Given the description of an element on the screen output the (x, y) to click on. 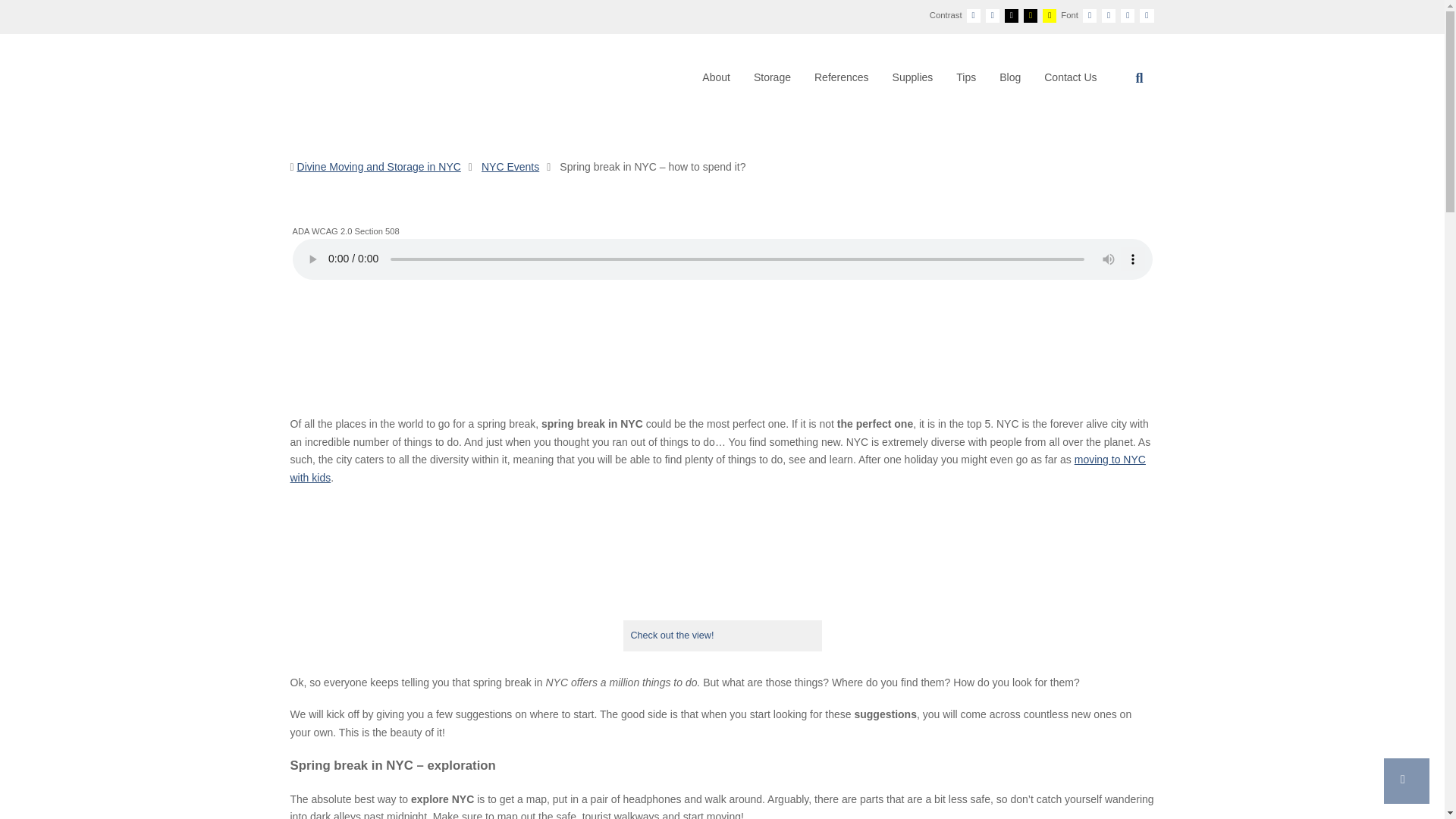
Smaller Font (1089, 15)
moving to NYC with kids (716, 468)
Divine Moving and Storage in NYC (379, 166)
SMALLER FONT (1089, 15)
READABLE FONT (1127, 15)
NYC Events (509, 166)
SEARCH (1139, 77)
Night contrast (991, 15)
Readable Font (1127, 15)
NIGHT CONTRAST (992, 15)
